Given the description of an element on the screen output the (x, y) to click on. 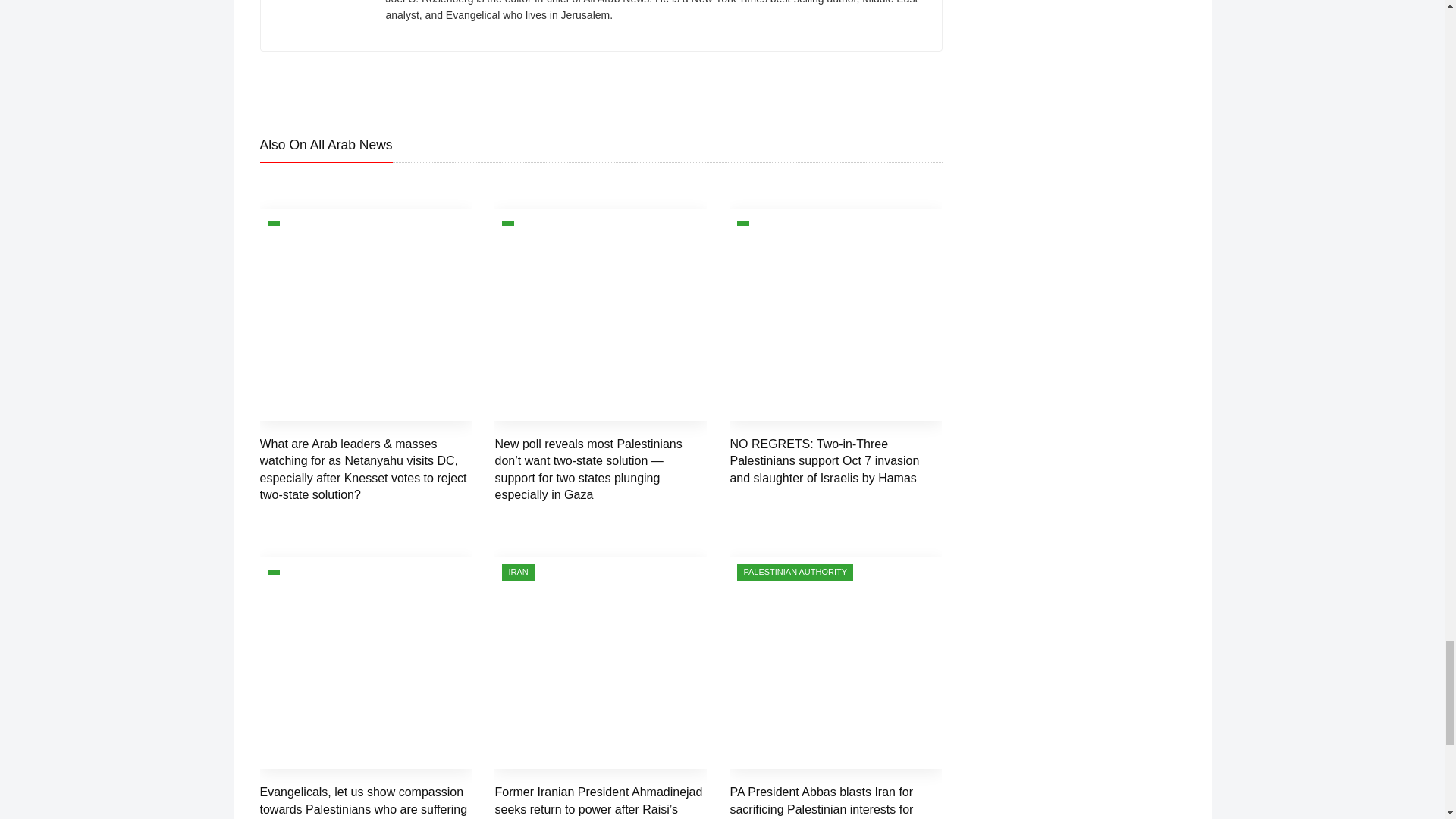
IRAN (518, 571)
